Given the description of an element on the screen output the (x, y) to click on. 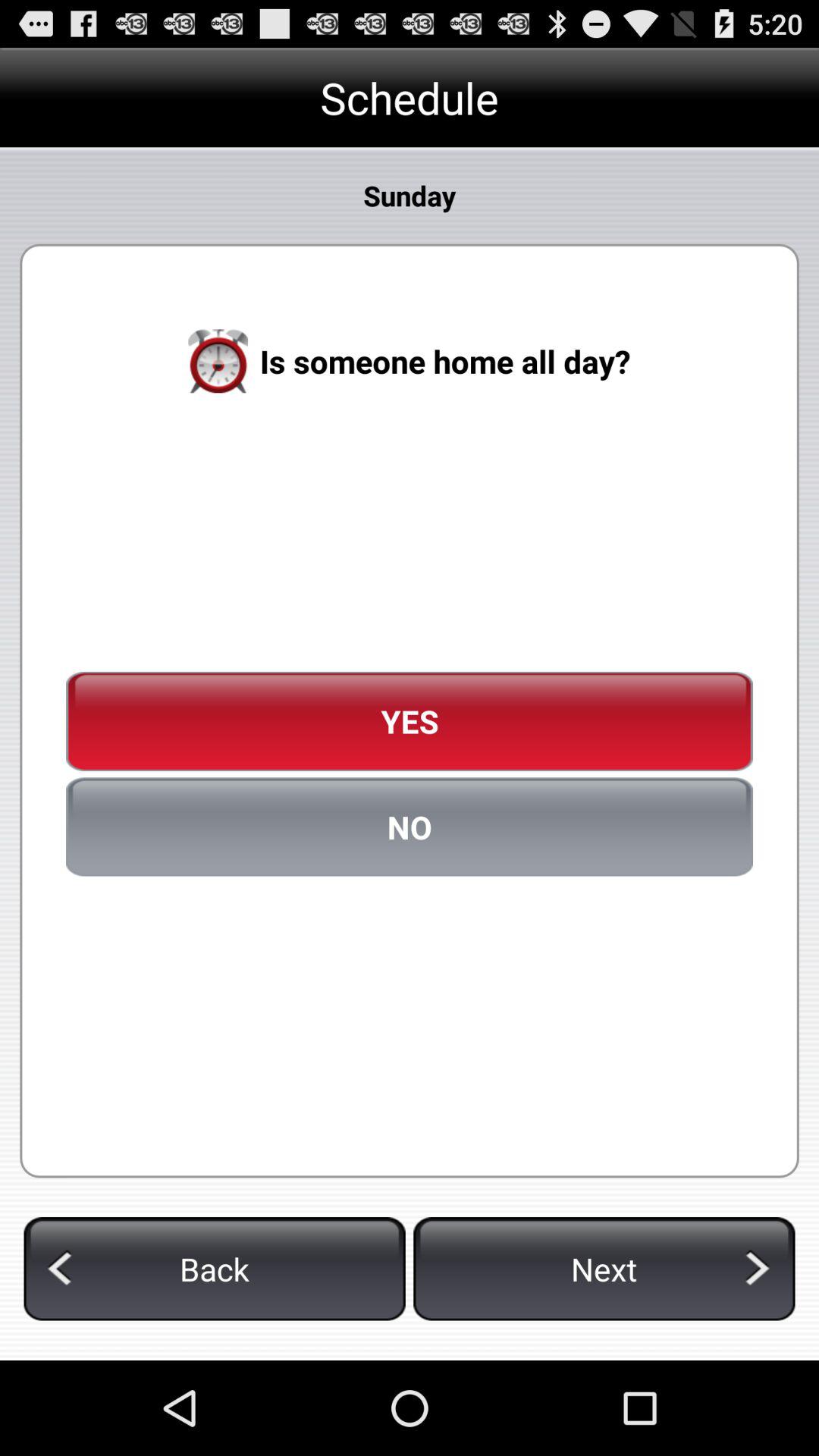
jump until the yes icon (409, 721)
